Given the description of an element on the screen output the (x, y) to click on. 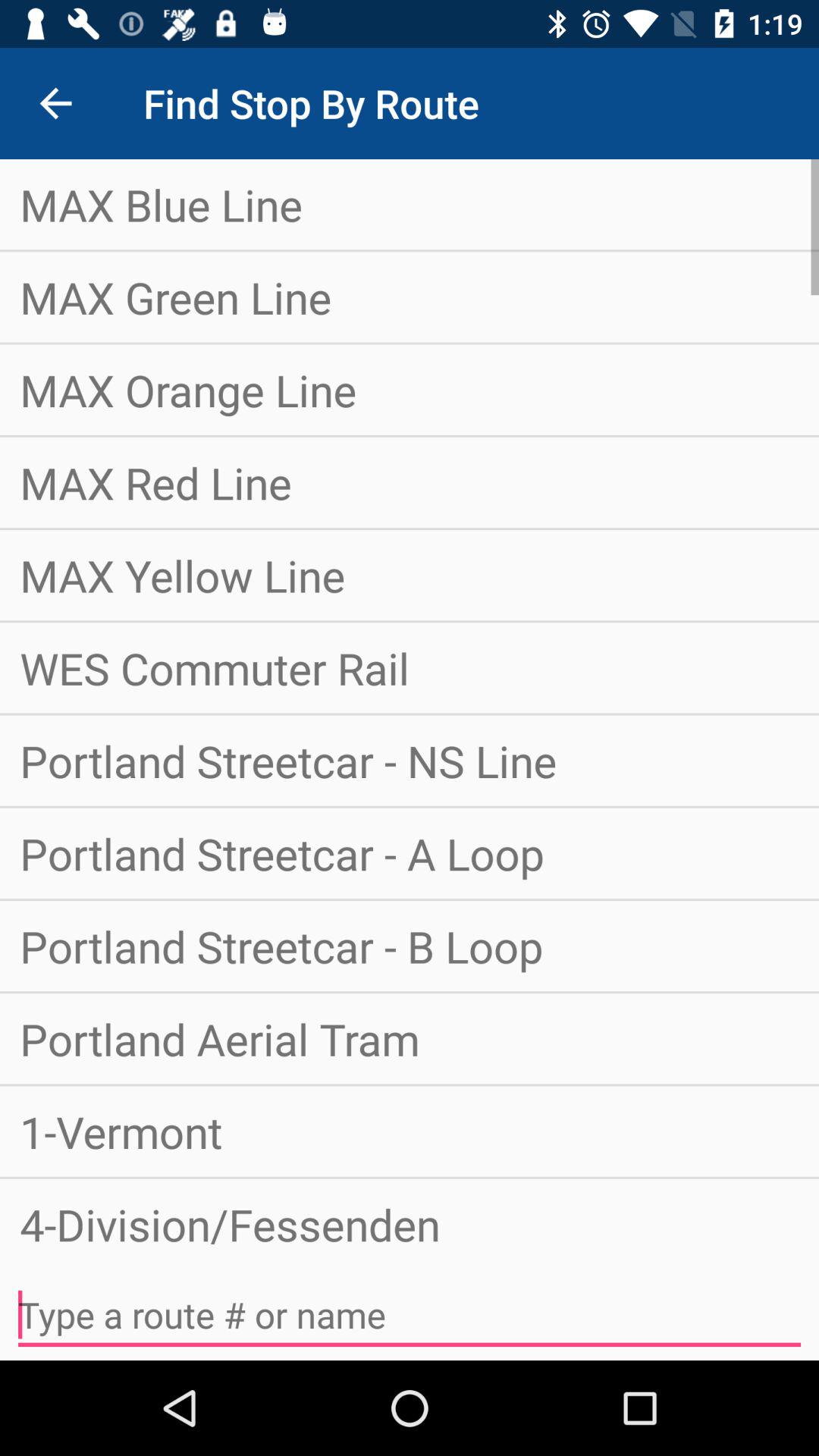
turn on item below portland aerial tram (409, 1131)
